Given the description of an element on the screen output the (x, y) to click on. 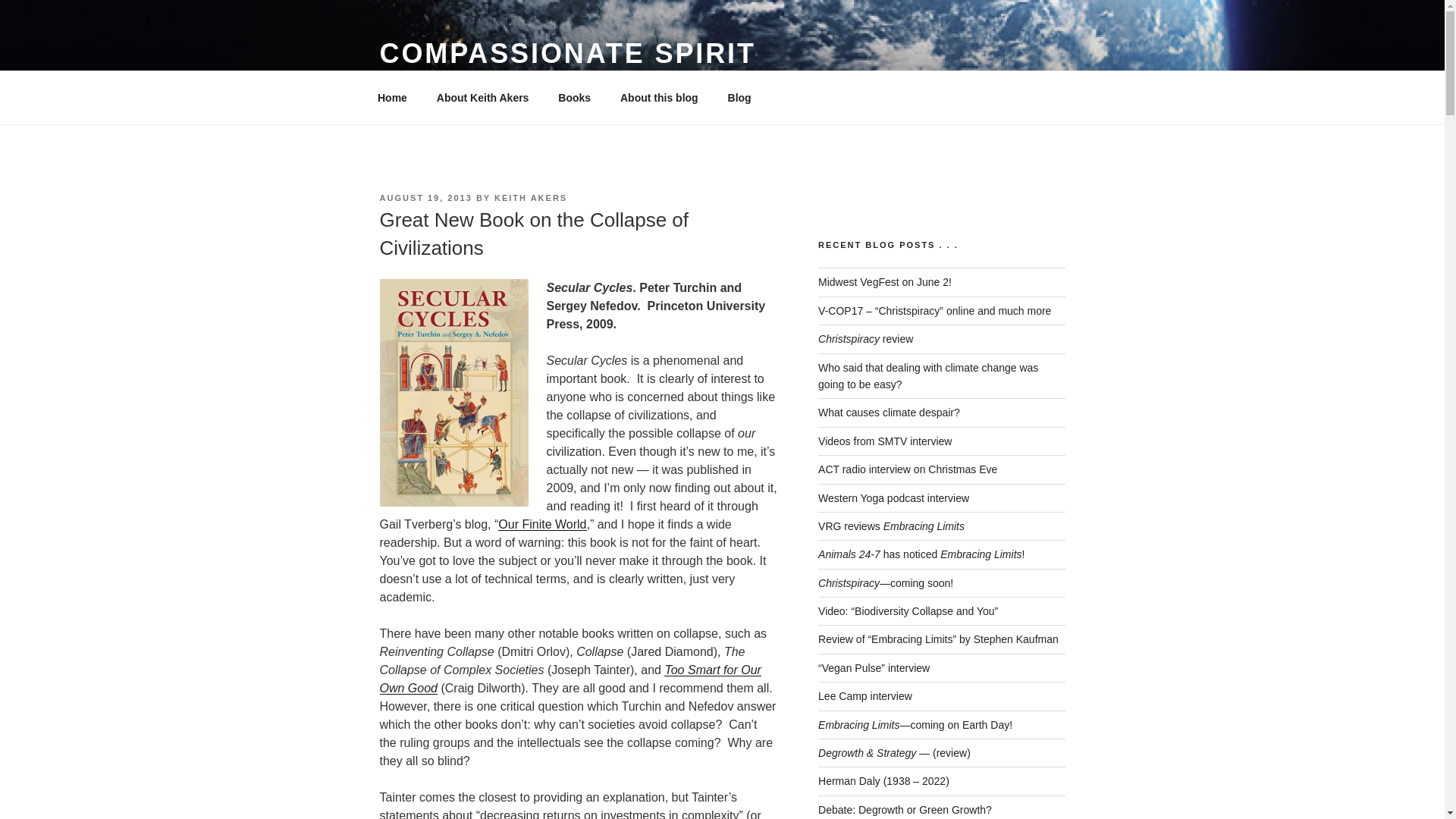
COMPASSIONATE SPIRIT (566, 52)
Christspiracy review (865, 338)
Our Finite World (541, 523)
Videos from SMTV interview (885, 440)
About this blog (659, 97)
Home (392, 97)
About Keith Akers (482, 97)
AUGUST 19, 2013 (424, 197)
Blog (739, 97)
What causes climate despair? (888, 412)
